Given the description of an element on the screen output the (x, y) to click on. 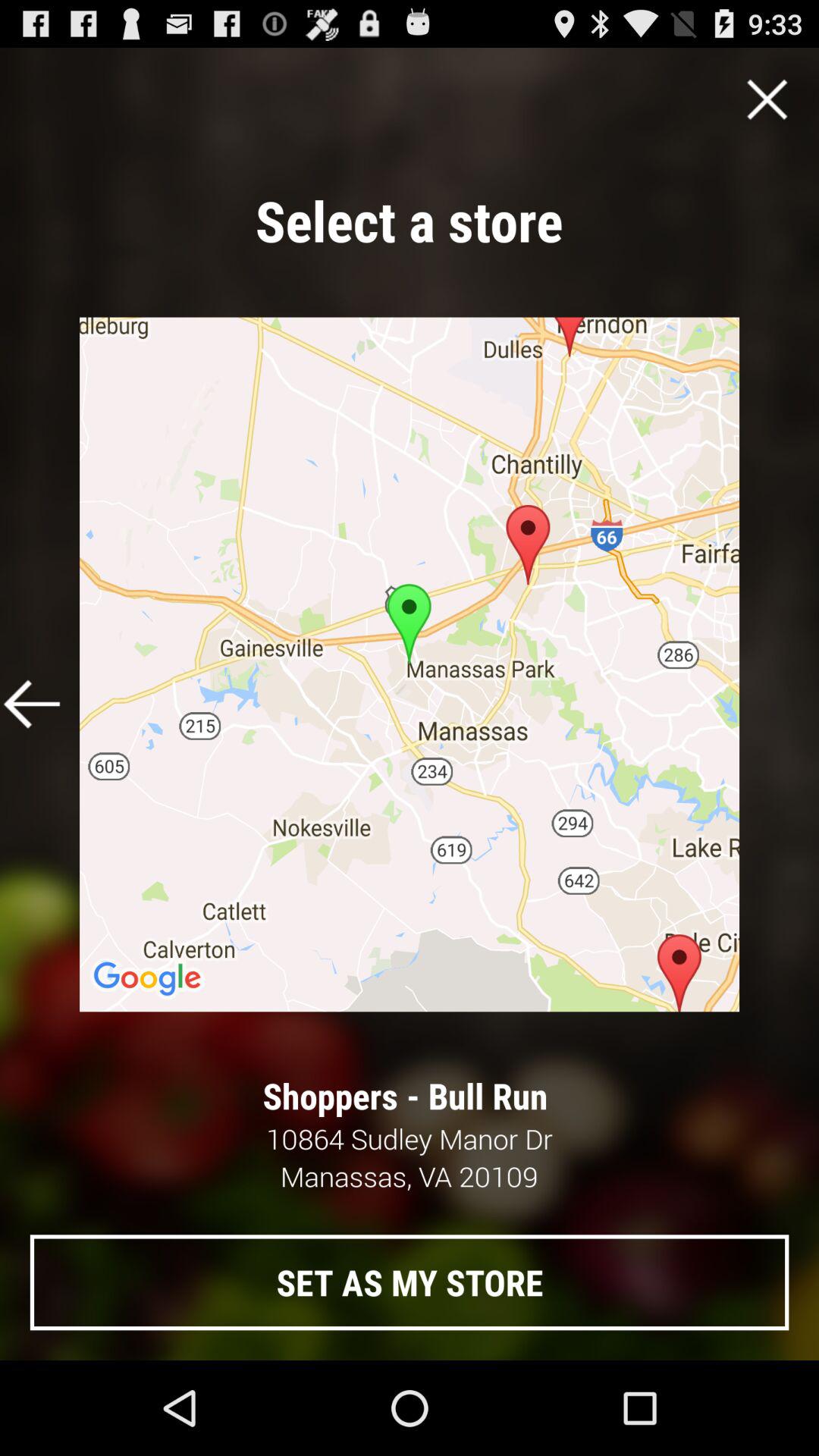
go back (31, 703)
